Given the description of an element on the screen output the (x, y) to click on. 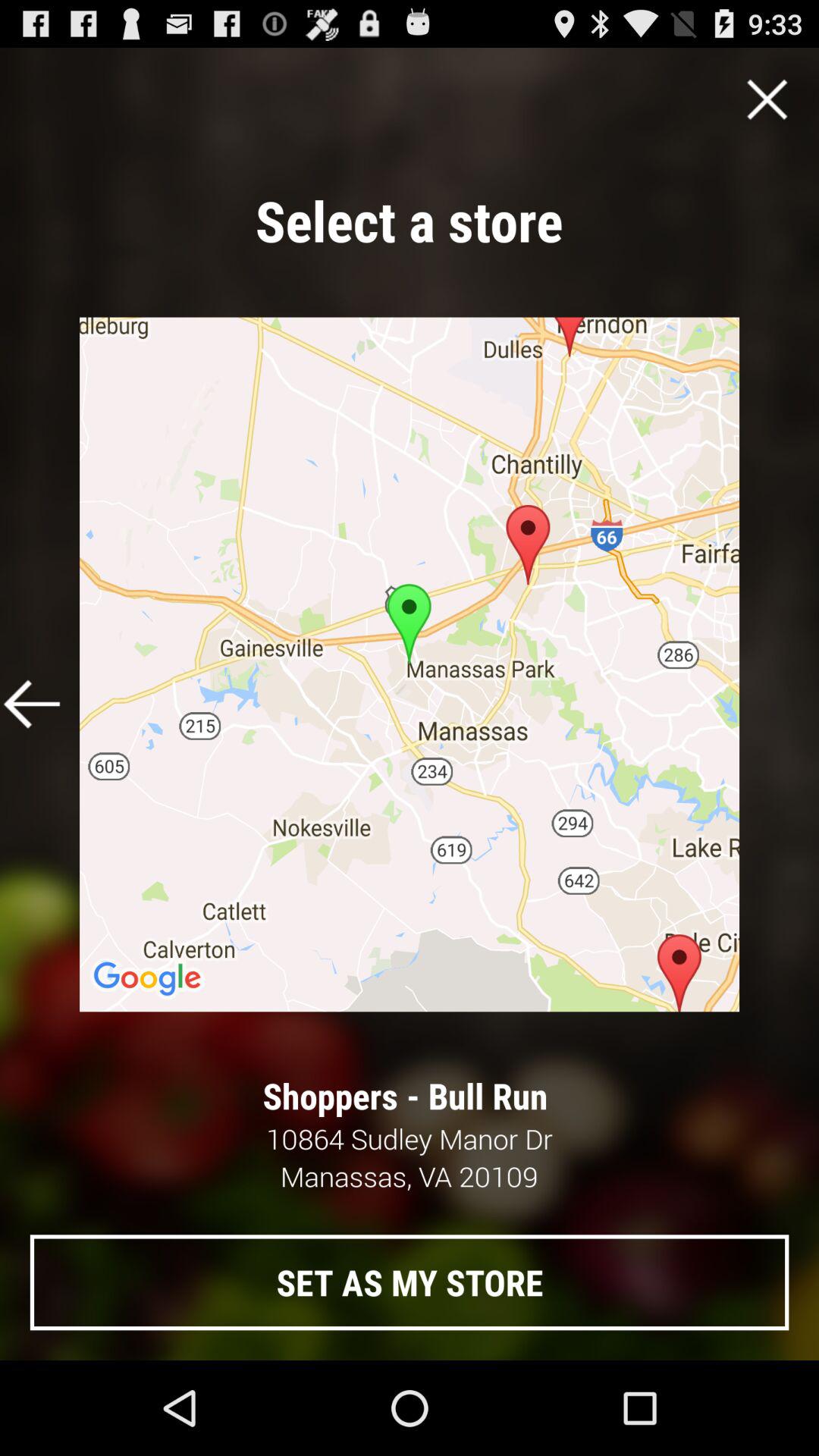
go back (31, 703)
